Given the description of an element on the screen output the (x, y) to click on. 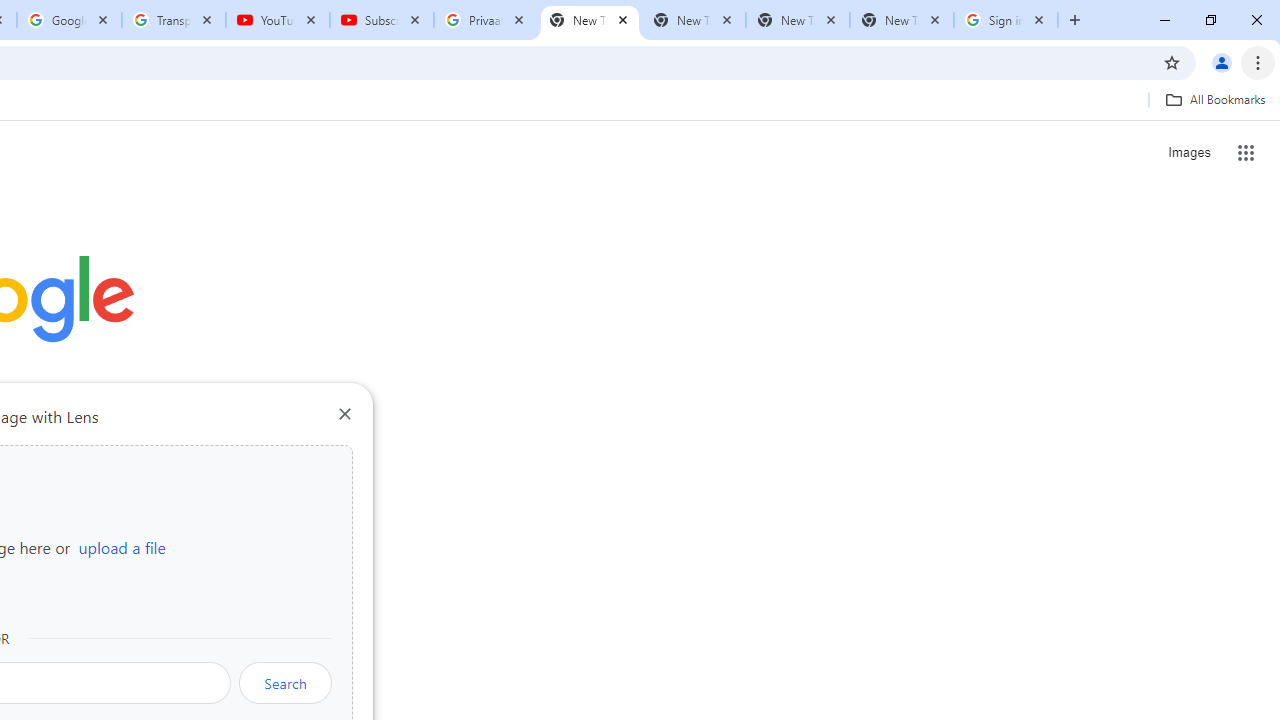
Sign in - Google Accounts (1005, 20)
Google Account (68, 20)
Add shortcut (223, 504)
